Given the description of an element on the screen output the (x, y) to click on. 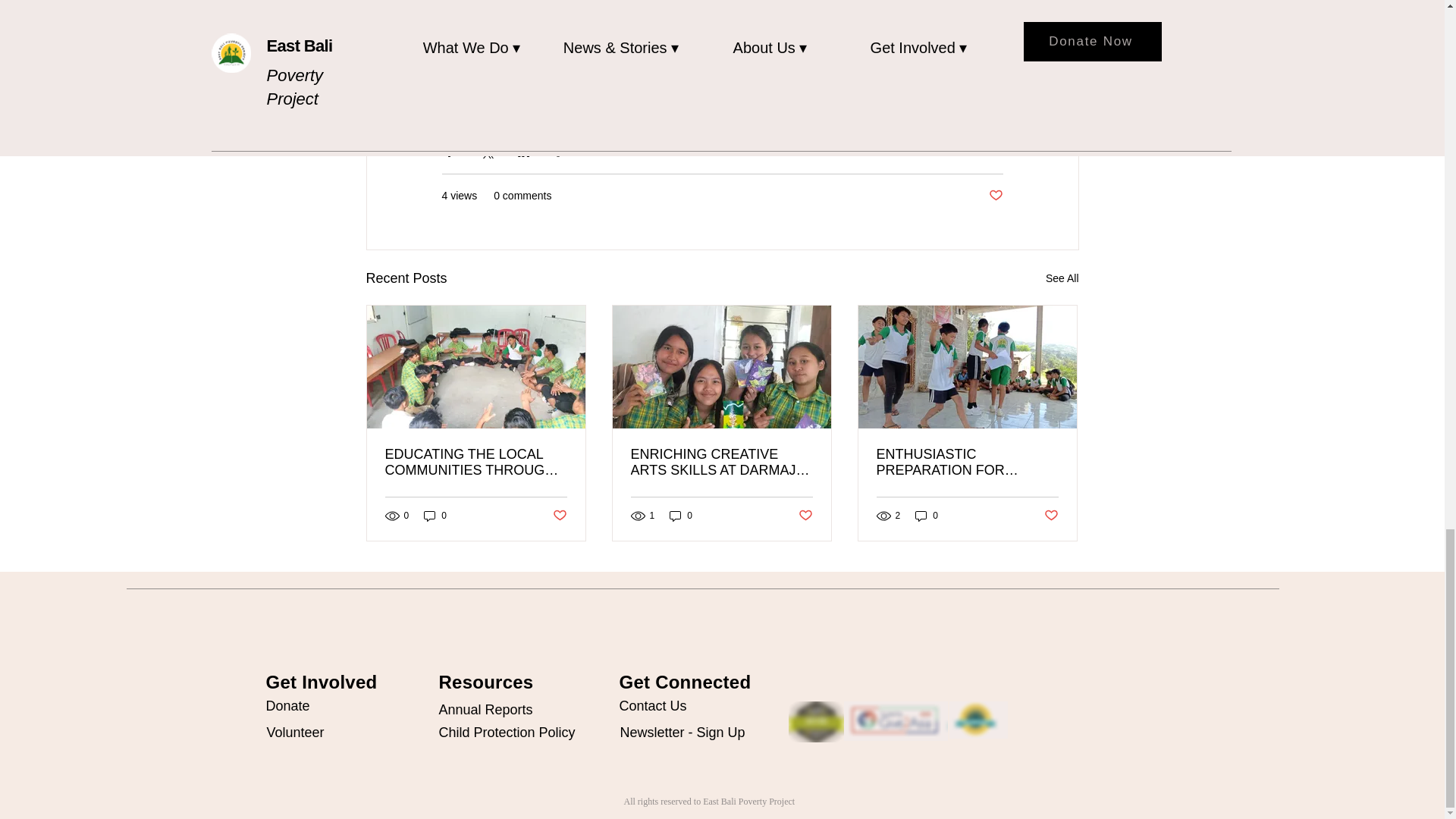
logo1.PNG (816, 721)
0 (681, 515)
logo3.PNG (978, 719)
See All (1061, 278)
ENRICHING CREATIVE ARTS SKILLS AT DARMAJI SCHOOL (721, 462)
Post not marked as liked (558, 515)
logo2.PNG (895, 721)
Education (979, 150)
Post not marked as liked (995, 195)
